Given the description of an element on the screen output the (x, y) to click on. 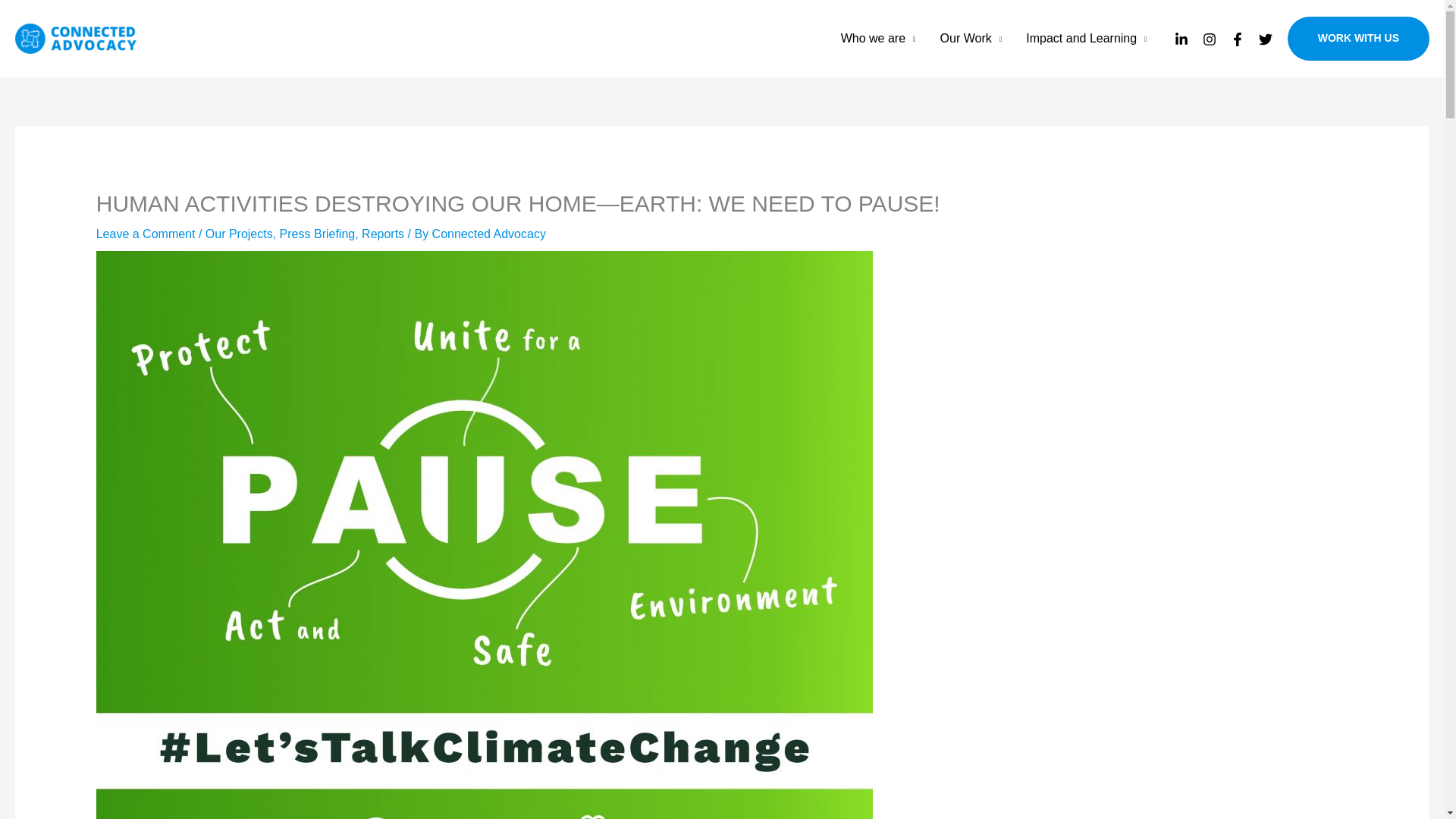
View all posts by Connected Advocacy (489, 233)
Our Work (971, 38)
WORK WITH US (1358, 38)
Who we are (878, 38)
Impact and Learning (1085, 38)
